Given the description of an element on the screen output the (x, y) to click on. 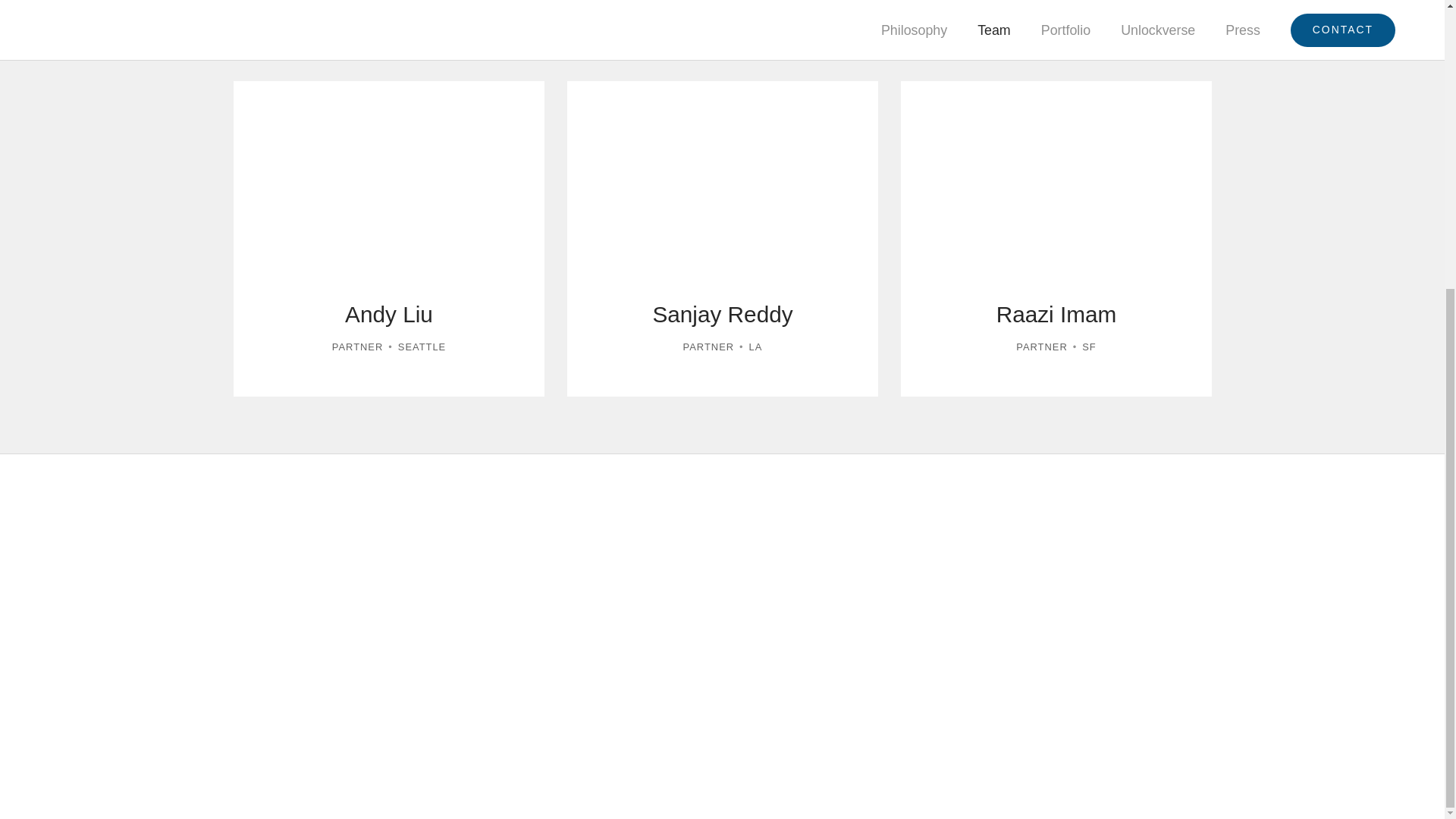
Seattle (388, 238)
